Given the description of an element on the screen output the (x, y) to click on. 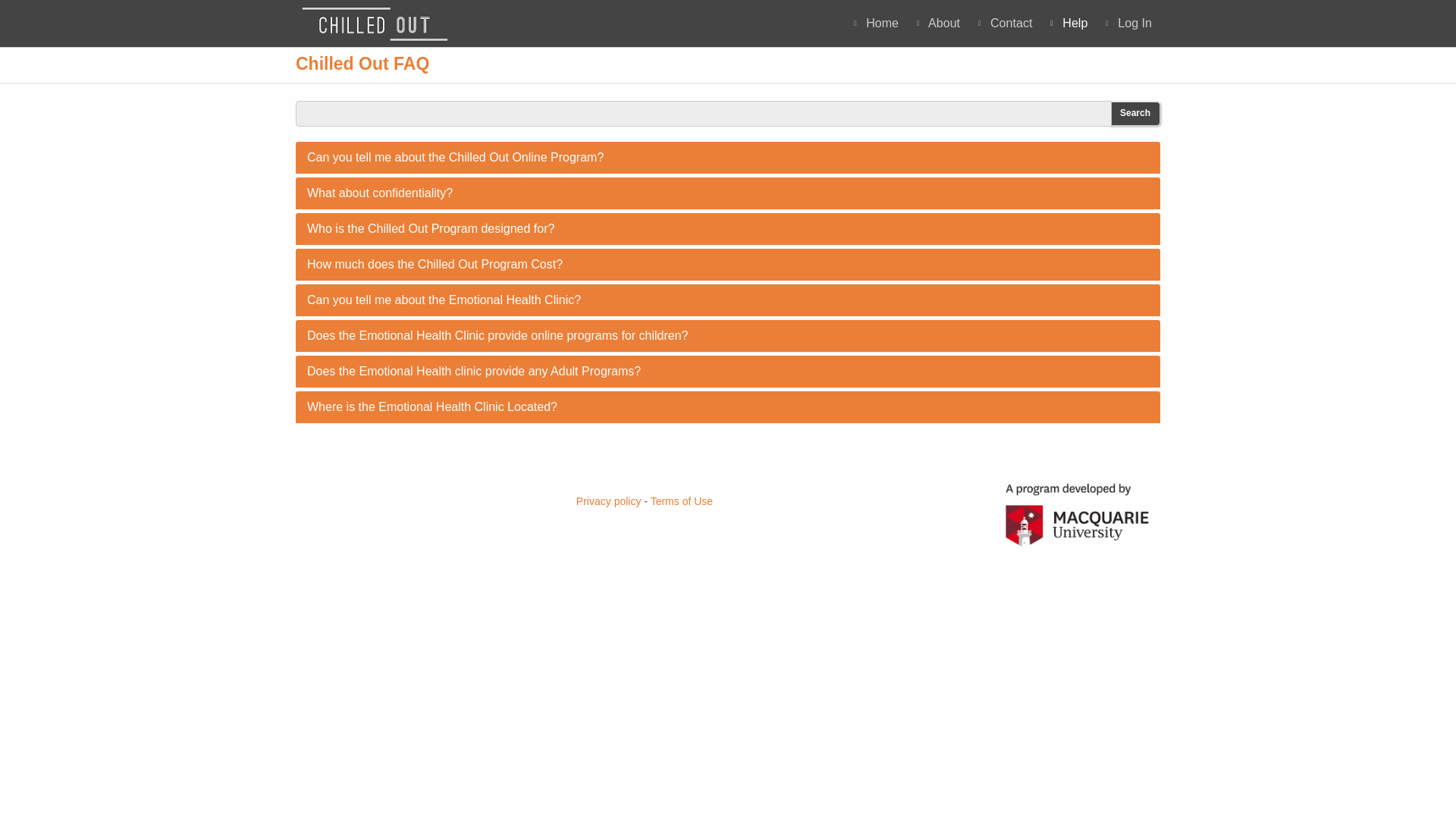
Log In (727, 23)
Can you tell me about the Emotional Health Clinic? (1128, 23)
Who is the Chilled Out Program designed for? (443, 299)
Help (430, 228)
Home (1068, 23)
Where is the Emotional Health Clinic Located? (875, 23)
How much does the Chilled Out Program Cost? (432, 406)
Search (434, 264)
What about confidentiality? (1134, 113)
Terms of Use (379, 192)
Contact (681, 500)
Can you tell me about the Chilled Out Online Program? (1004, 23)
Privacy policy (455, 156)
